Given the description of an element on the screen output the (x, y) to click on. 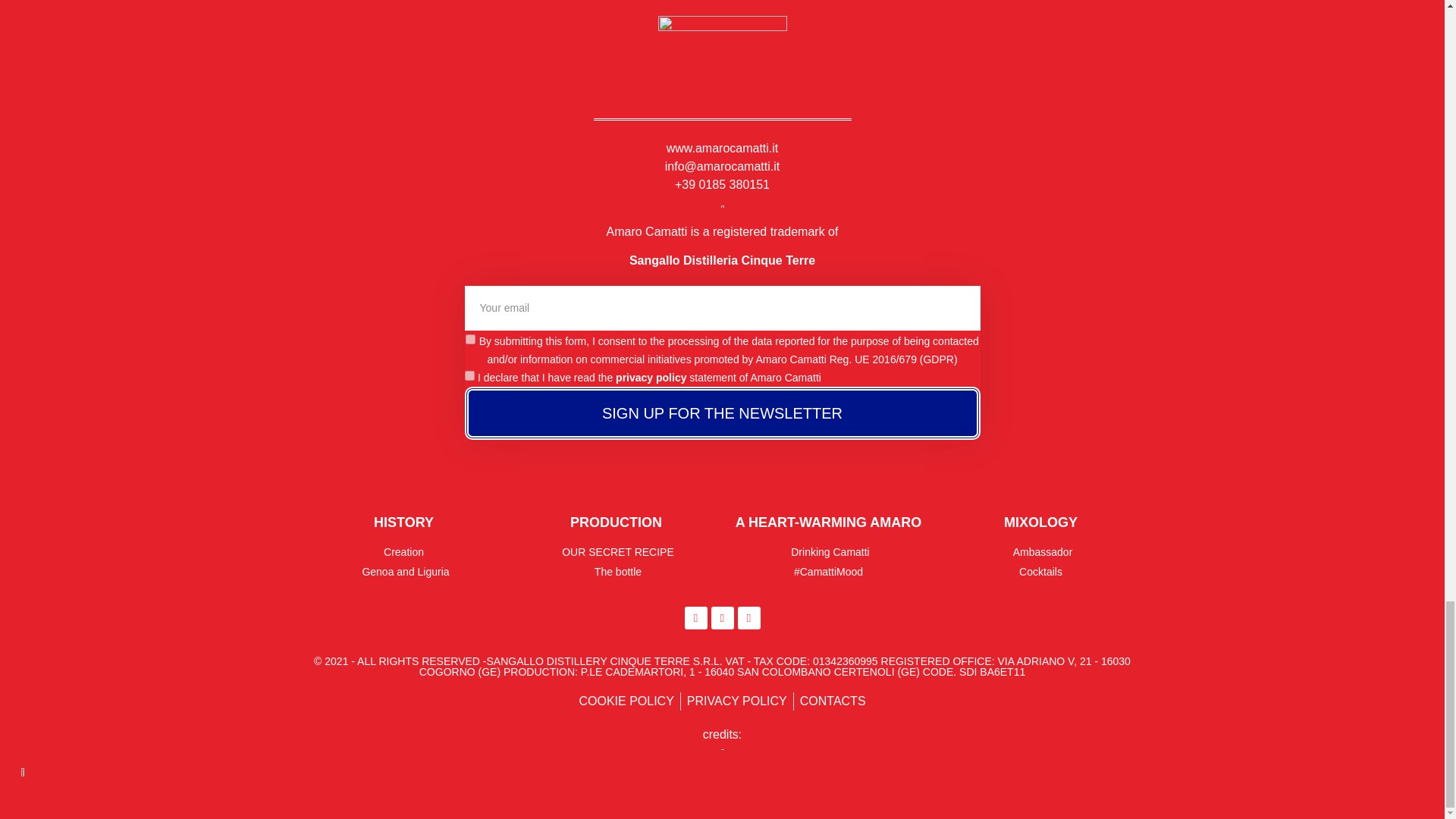
A HEART-WARMING AMARO (828, 522)
HISTORY (403, 522)
MIXOLOGY (1040, 522)
on (470, 338)
SIGN UP FOR THE NEWSLETTER (721, 412)
privacy policy (650, 377)
The bottle (615, 571)
PRODUCTION (616, 522)
Ambassador (1040, 552)
Drinking Camatti (828, 552)
